Given the description of an element on the screen output the (x, y) to click on. 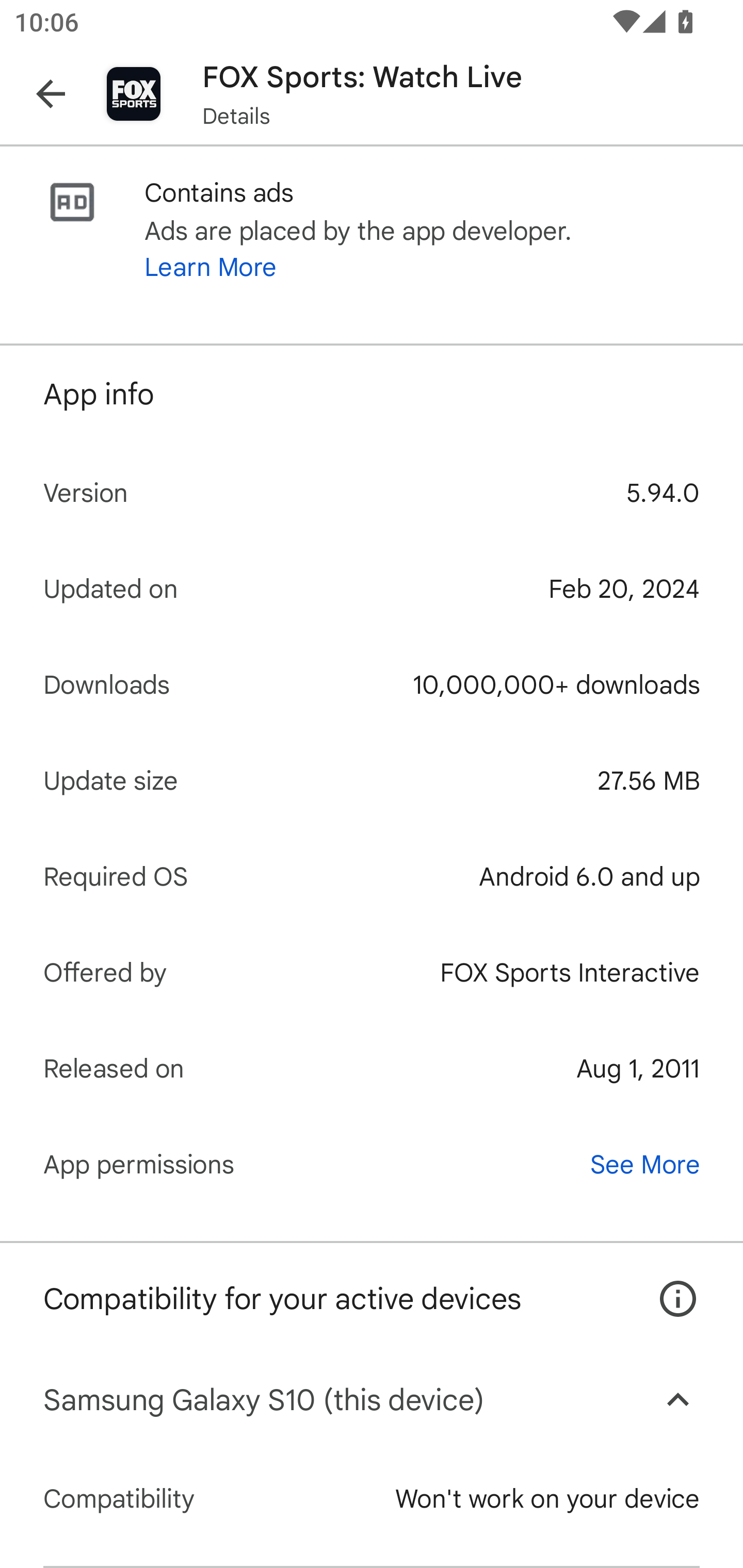
Navigate up (50, 93)
App permissions See More (371, 1164)
How this App works on your devices. (666, 1284)
Samsung Galaxy S10 (this device) Collapse (371, 1400)
Collapse (677, 1400)
